Given the description of an element on the screen output the (x, y) to click on. 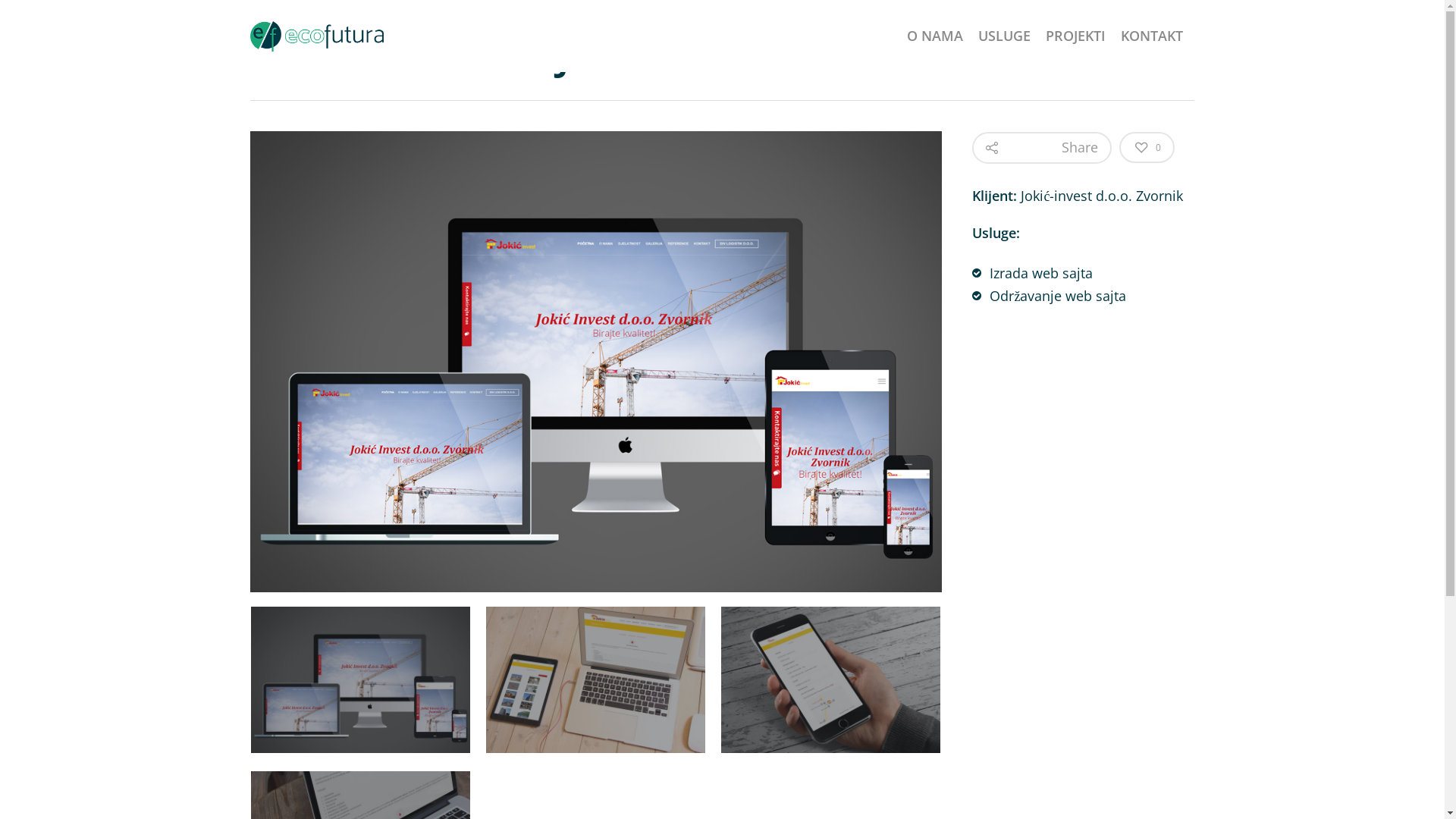
O NAMA Element type: text (934, 46)
0 Element type: text (1146, 147)
resp-jokic-inv-1 Element type: hover (360, 679)
resp-jokic-inv-2 Element type: hover (595, 679)
PROJEKTI Element type: text (1075, 46)
USLUGE Element type: text (1004, 46)
resp-jokic-inv-3 Element type: hover (830, 679)
Share Element type: text (1041, 147)
KONTAKT Element type: text (1151, 46)
